Given the description of an element on the screen output the (x, y) to click on. 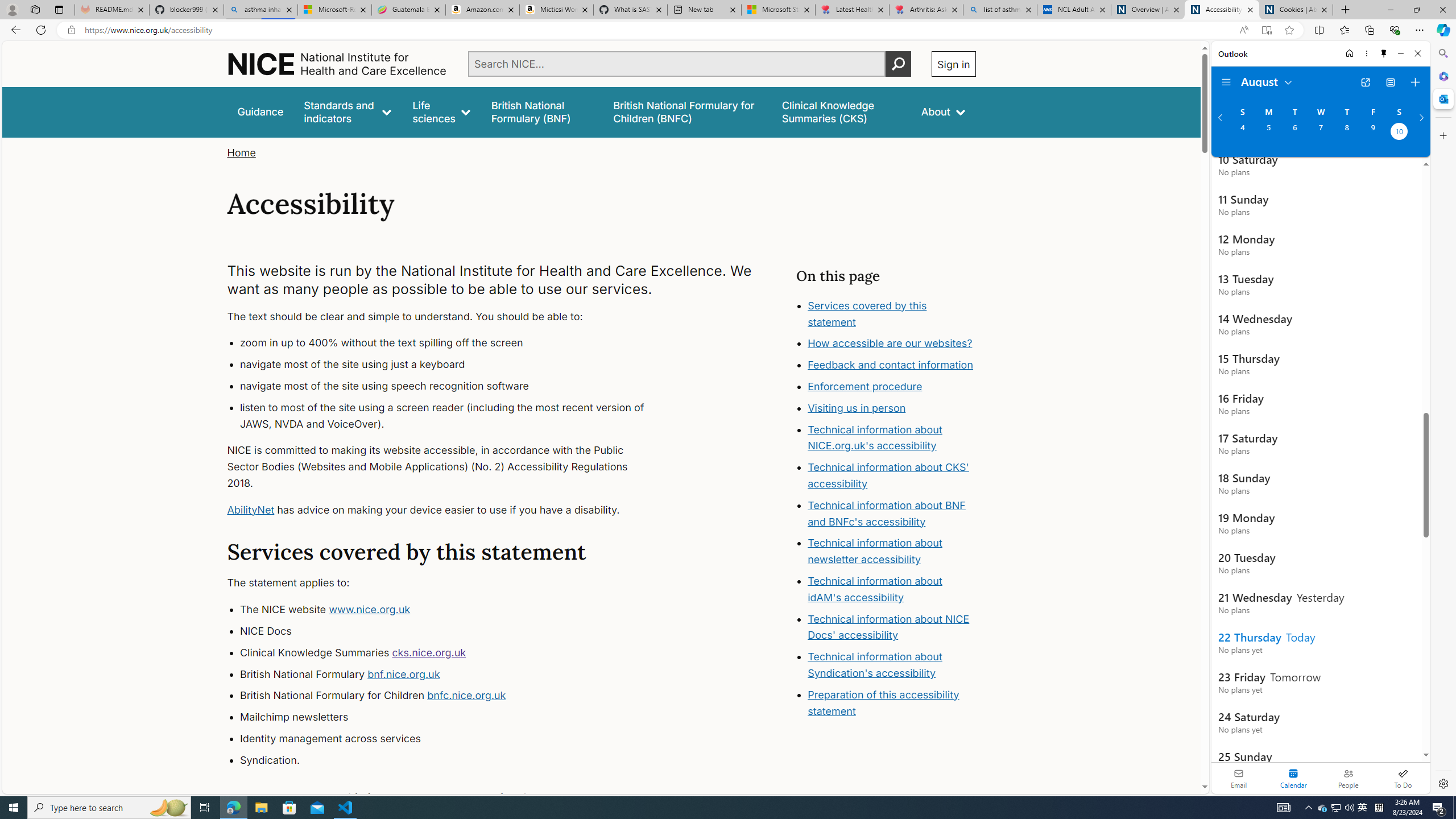
Selected calendar module. Date today is 22 (1293, 777)
Technical information about idAM's accessibility (875, 588)
www.nice.org.uk (369, 609)
navigate most of the site using just a keyboard (452, 364)
Technical information about newsletter accessibility (875, 551)
Guidance (260, 111)
Feedback and contact information (891, 365)
